Given the description of an element on the screen output the (x, y) to click on. 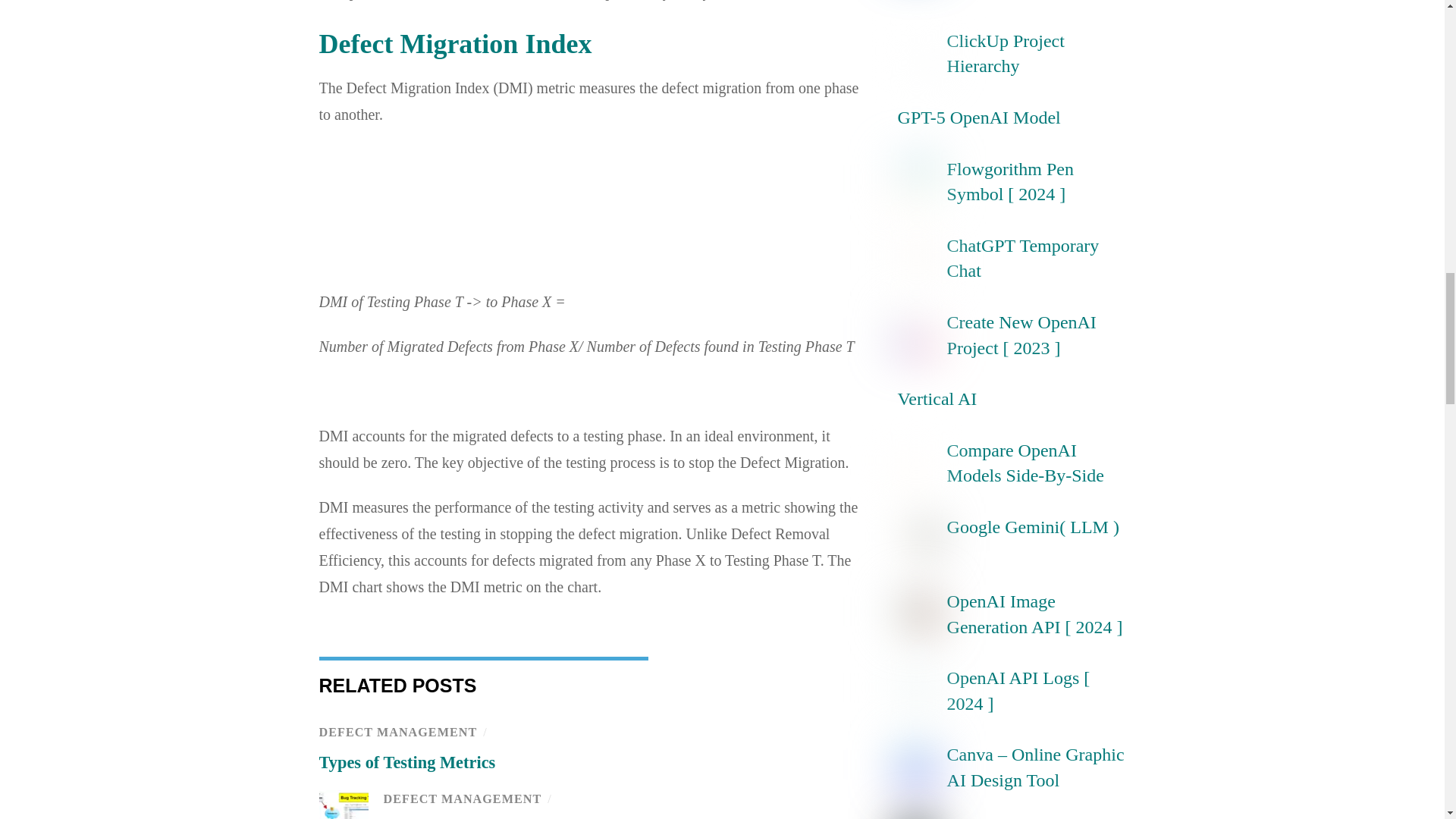
Types of Testing Metrics (406, 762)
Types of Testing Metrics (406, 762)
DEFECT MANAGEMENT (397, 732)
DEFECT MANAGEMENT (462, 798)
